Given the description of an element on the screen output the (x, y) to click on. 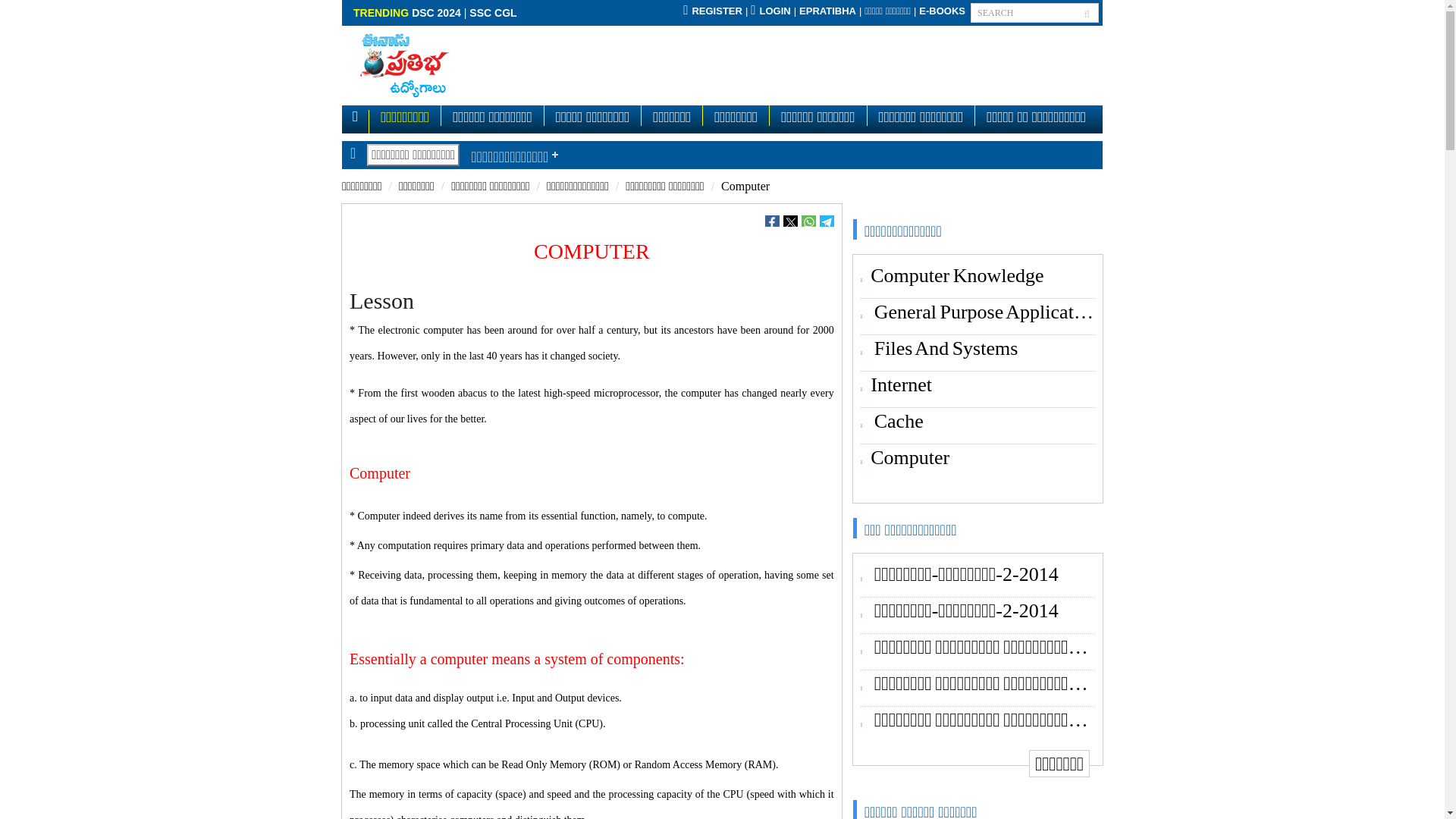
DSC 2024 (436, 12)
ePrathibha (827, 10)
LOGIN (770, 10)
E-BOOKS (941, 10)
Share on whatsapp (808, 220)
eenadu varthalu (887, 10)
REGISTER (712, 10)
SSC CGL (492, 12)
EPRATIBHA (827, 10)
eenadu varthalu (941, 10)
